Given the description of an element on the screen output the (x, y) to click on. 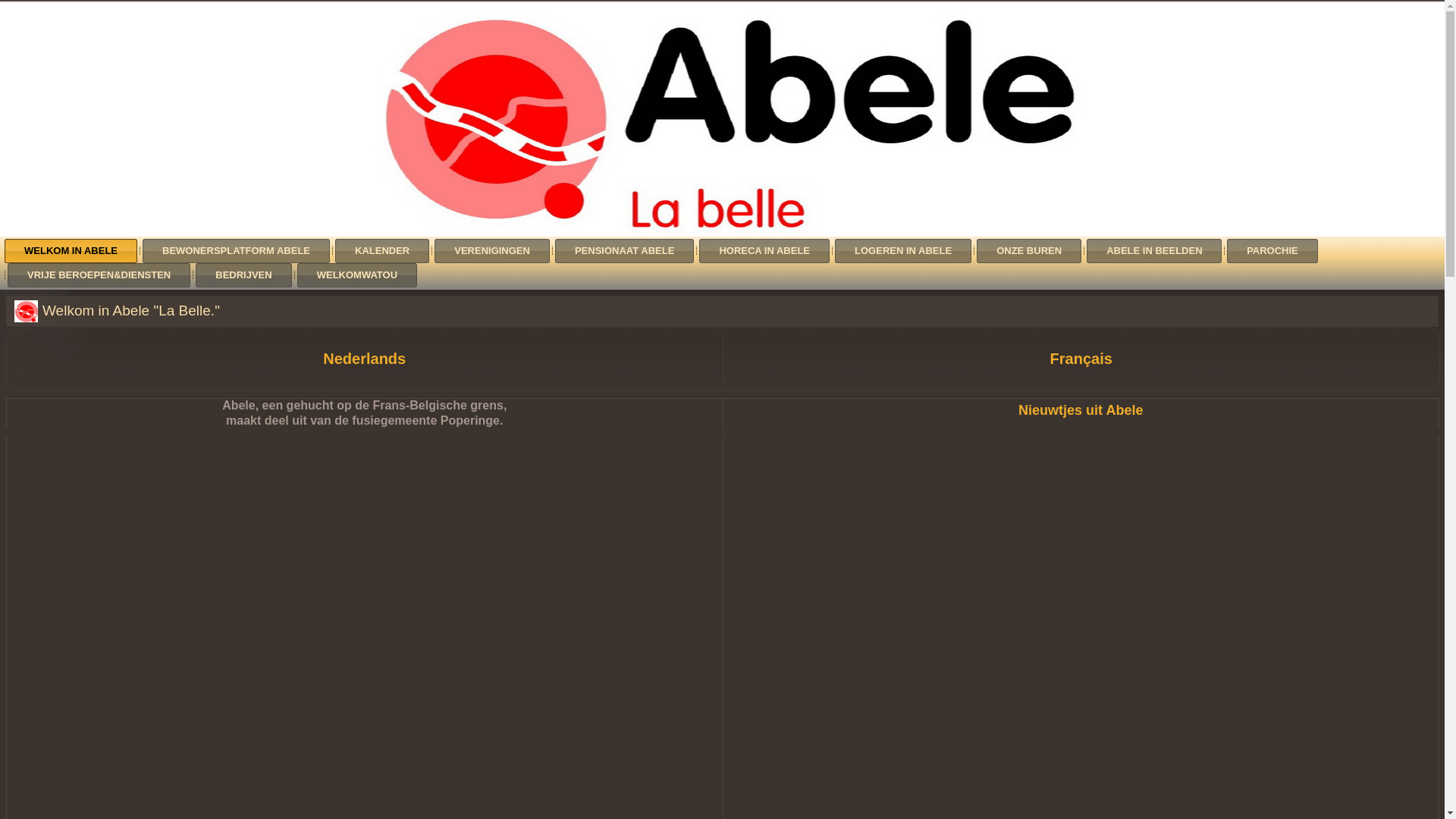
VRIJE BEROEPEN&DIENSTEN Element type: text (98, 275)
Nederlands Element type: text (364, 358)
WELKOMWATOU Element type: text (357, 275)
ABELE IN BEELDEN Element type: text (1153, 250)
KALENDER Element type: text (382, 250)
BEDRIJVEN Element type: text (243, 275)
PAROCHIE Element type: text (1271, 250)
VERENIGINGEN Element type: text (491, 250)
HORECA IN ABELE Element type: text (764, 250)
LOGEREN IN ABELE Element type: text (902, 250)
WELKOM IN ABELE Element type: text (70, 250)
Nieuwtjes uit Abele Element type: text (1080, 409)
PENSIONAAT ABELE Element type: text (624, 250)
BEWONERSPLATFORM ABELE Element type: text (235, 250)
ONZE BUREN Element type: text (1028, 250)
